Given the description of an element on the screen output the (x, y) to click on. 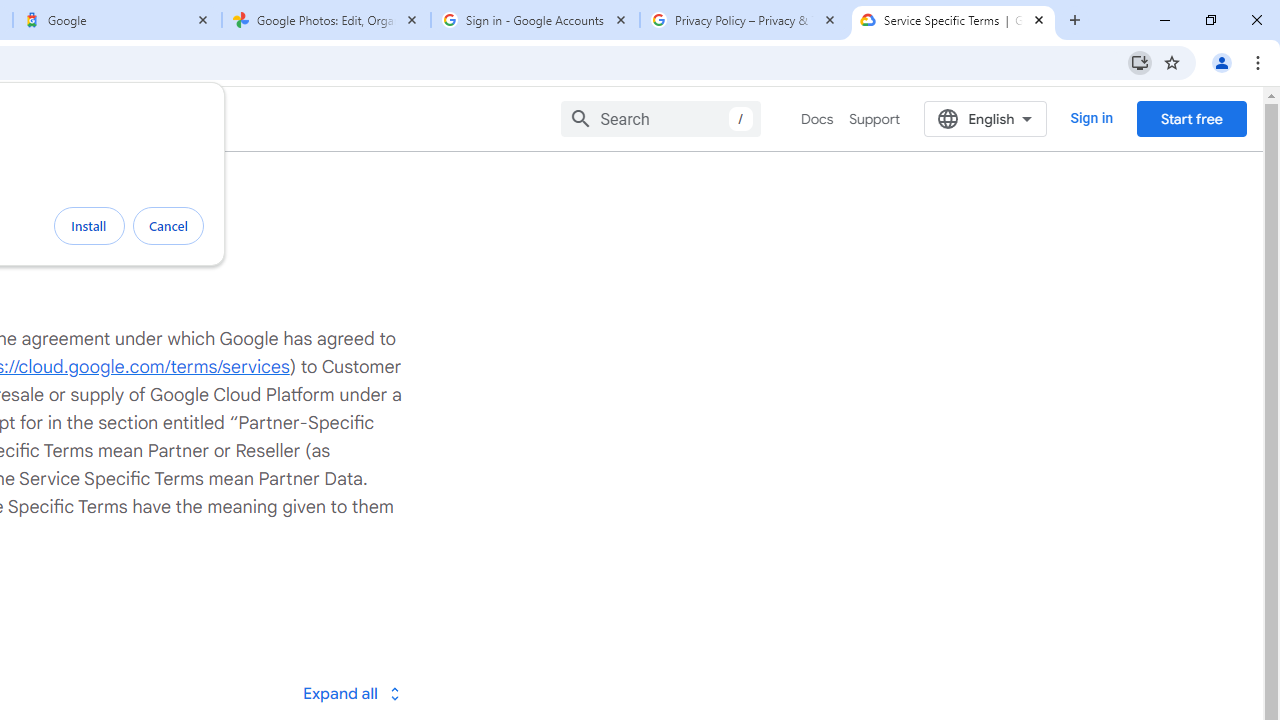
Sign in - Google Accounts (535, 20)
Search (660, 118)
Toggle all (351, 692)
English (985, 118)
